Given the description of an element on the screen output the (x, y) to click on. 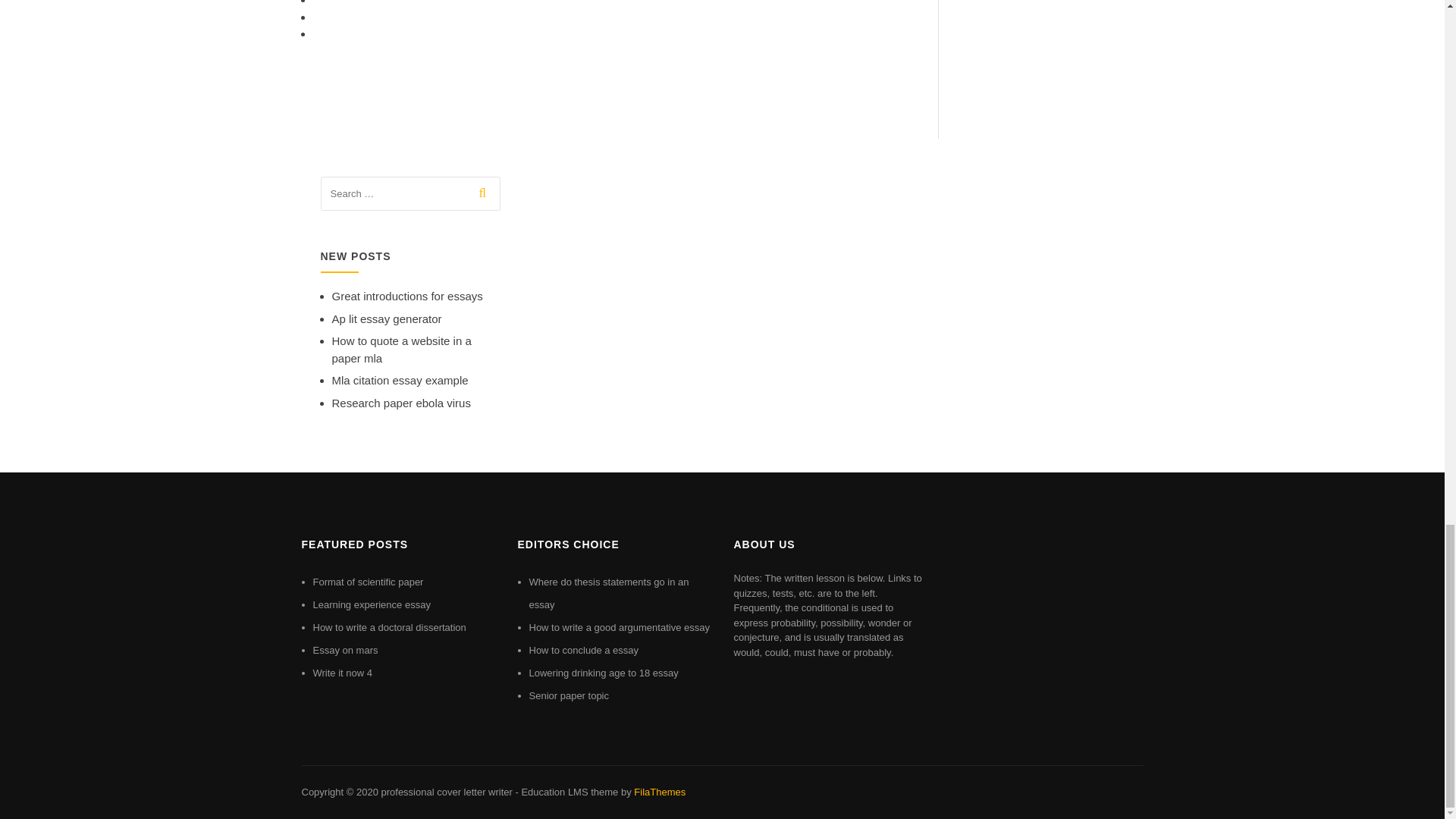
Senior paper topic (569, 695)
Where do thesis statements go in an essay (608, 593)
Write it now 4 (342, 672)
Format of scientific paper (368, 582)
How to write a doctoral dissertation (389, 627)
Great introductions for essays (407, 295)
How to conclude a essay (584, 650)
Mla citation essay example (399, 379)
professional cover letter writer (446, 791)
Essay on mars (345, 650)
